Given the description of an element on the screen output the (x, y) to click on. 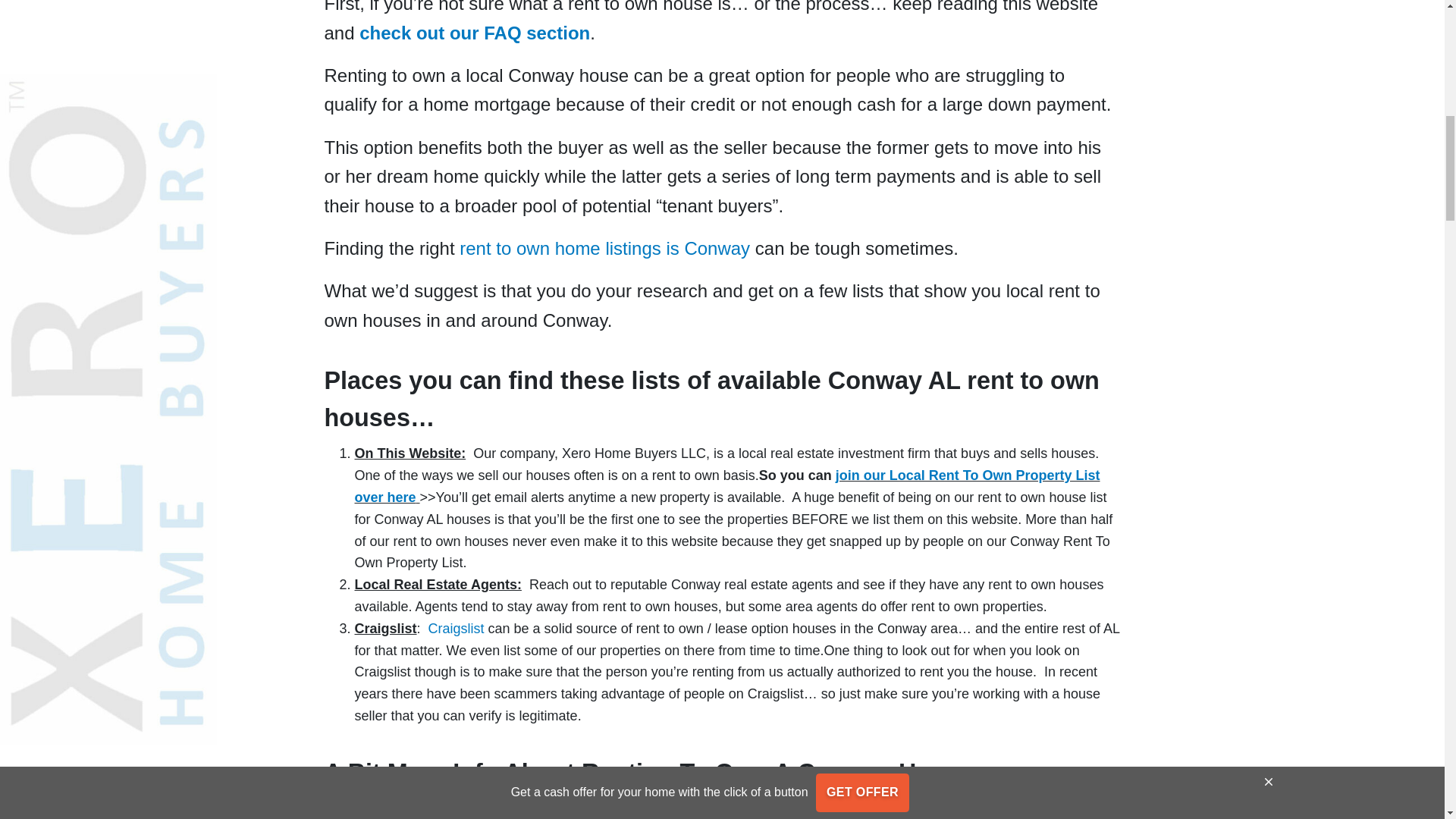
rent to own home listings is Conway (604, 248)
join our Local Rent To Own Property List over here (727, 486)
check out our FAQ section (474, 32)
Craigslist (456, 628)
